Given the description of an element on the screen output the (x, y) to click on. 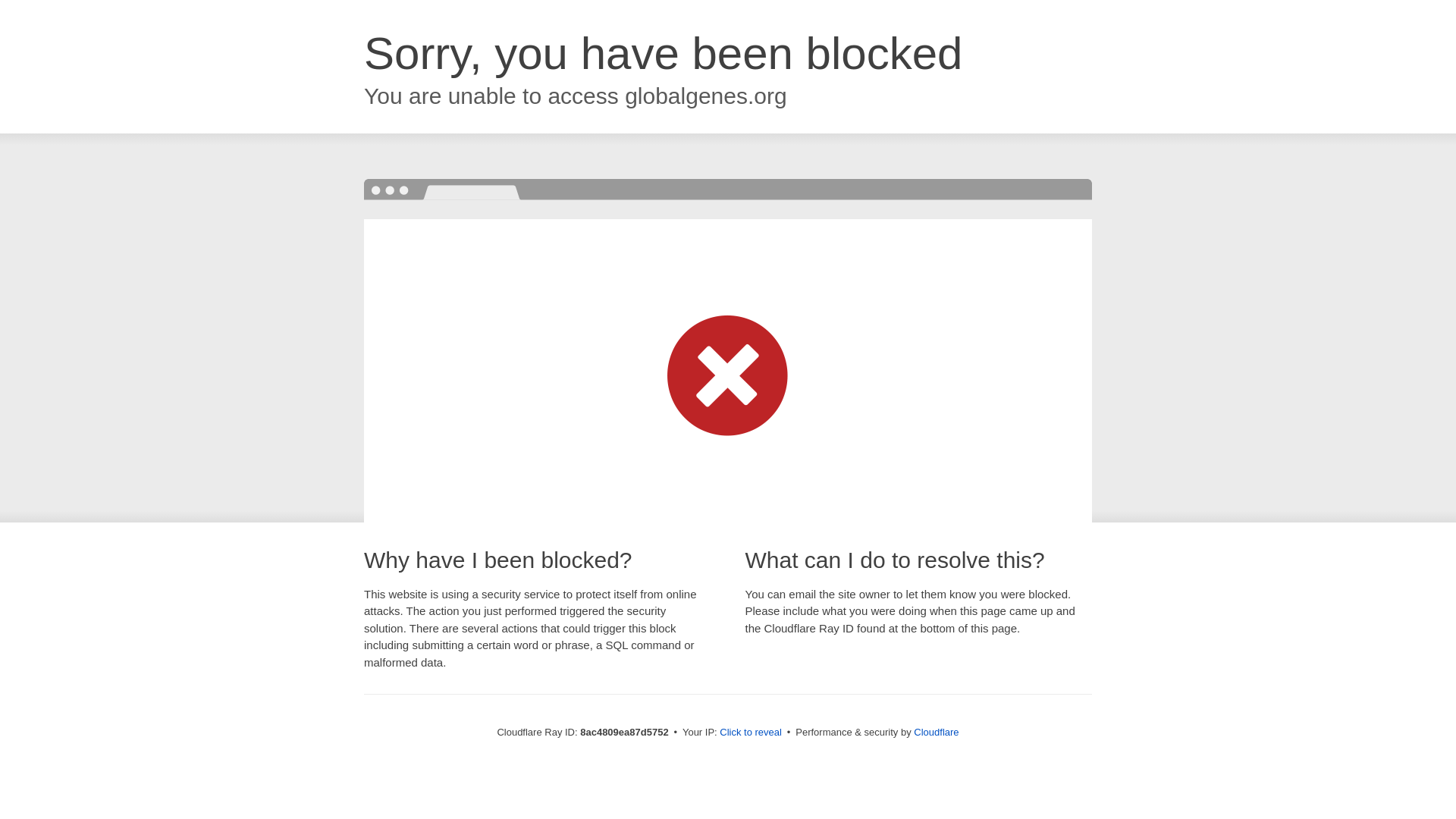
Cloudflare (936, 731)
Click to reveal (750, 732)
